Given the description of an element on the screen output the (x, y) to click on. 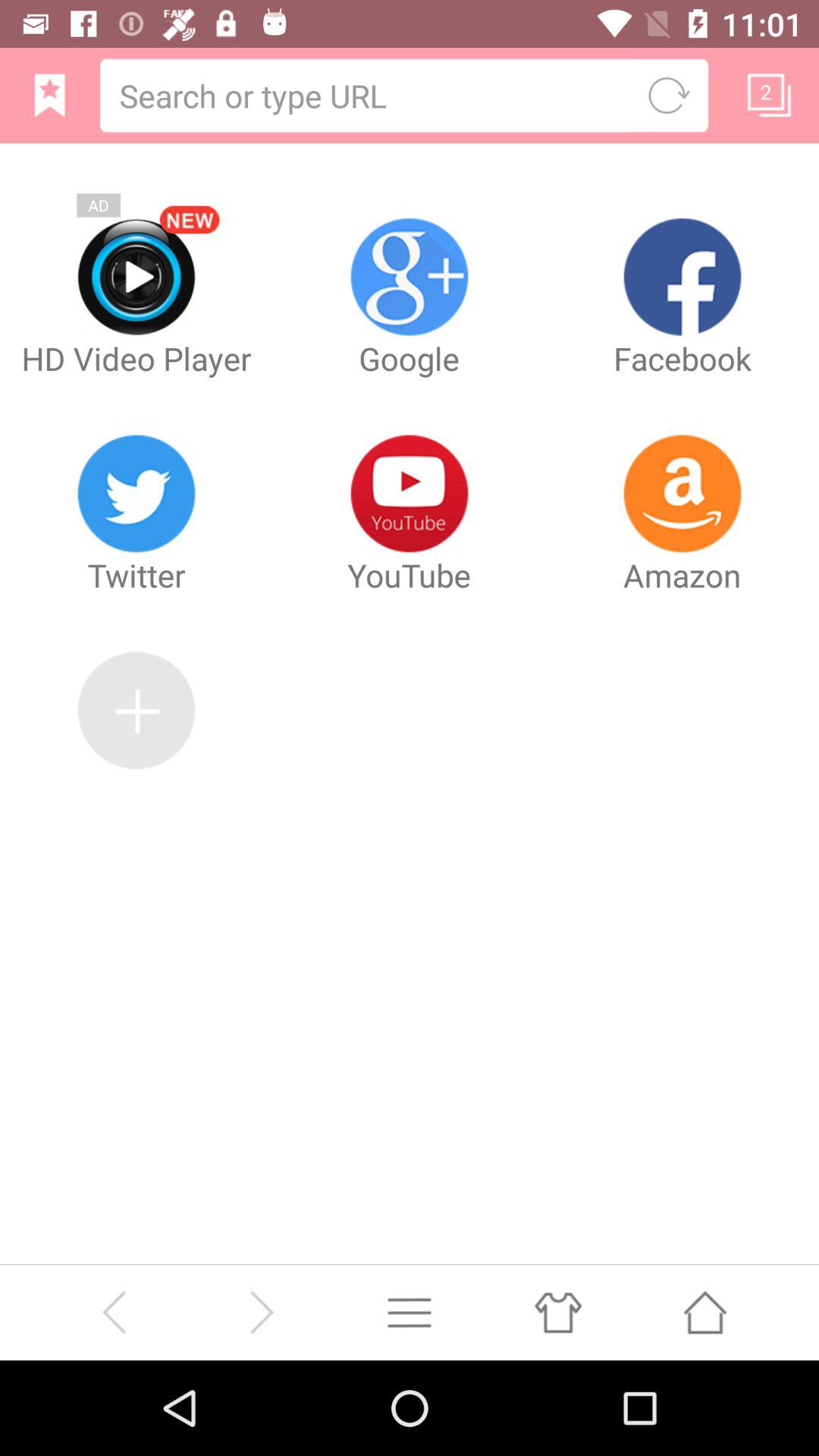
open bookmarks (49, 95)
